Given the description of an element on the screen output the (x, y) to click on. 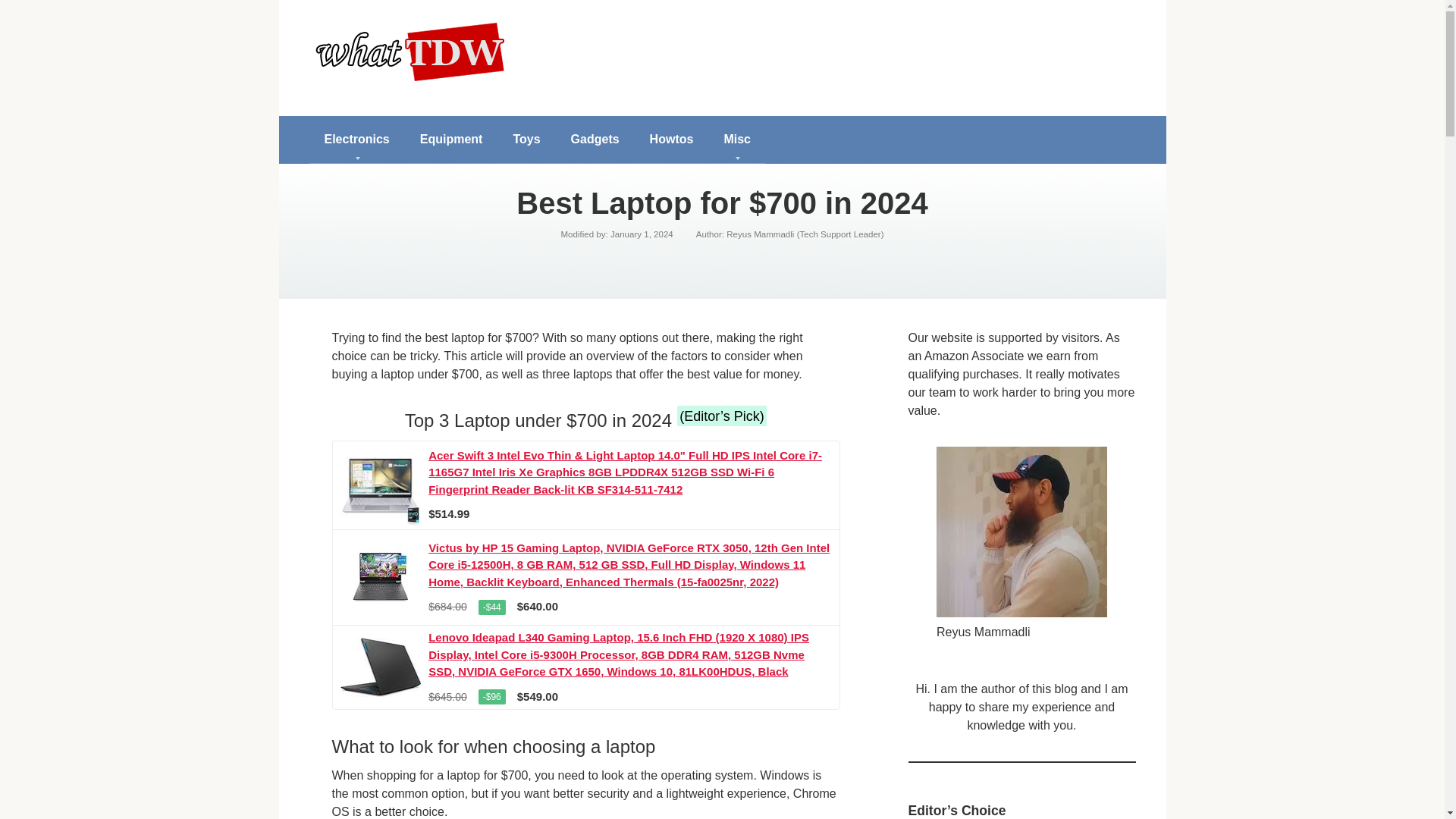
Gadgets (595, 139)
Toys (525, 139)
Equipment (450, 139)
Misc (736, 139)
Electronics (356, 139)
Howtos (671, 139)
